Given the description of an element on the screen output the (x, y) to click on. 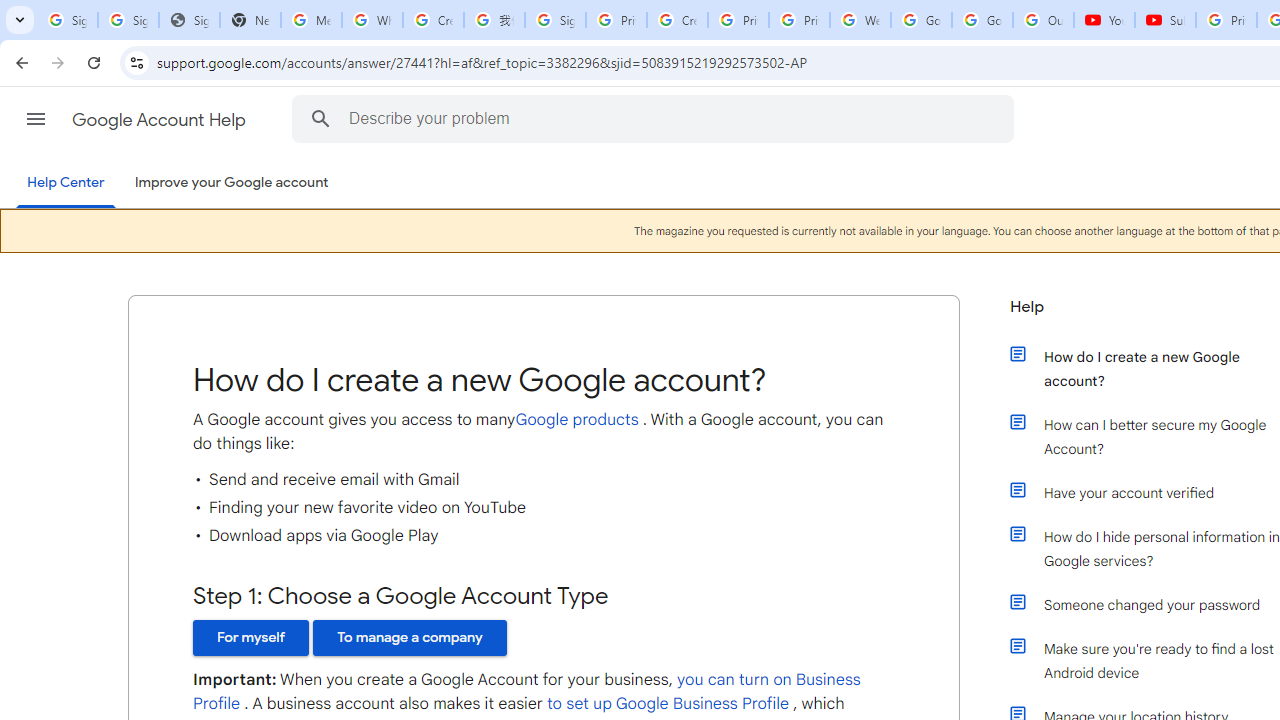
Sign In - USA TODAY (189, 20)
Subscriptions - YouTube (1165, 20)
Help Center (65, 183)
Main menu (35, 119)
Search the Help Center (320, 118)
Google Account Help (160, 119)
Improve your Google account (231, 183)
For myself (251, 637)
to set up Google Business Profile (667, 704)
Google products (576, 419)
Create your Google Account (676, 20)
Sign in - Google Accounts (67, 20)
Welcome to My Activity (859, 20)
